Given the description of an element on the screen output the (x, y) to click on. 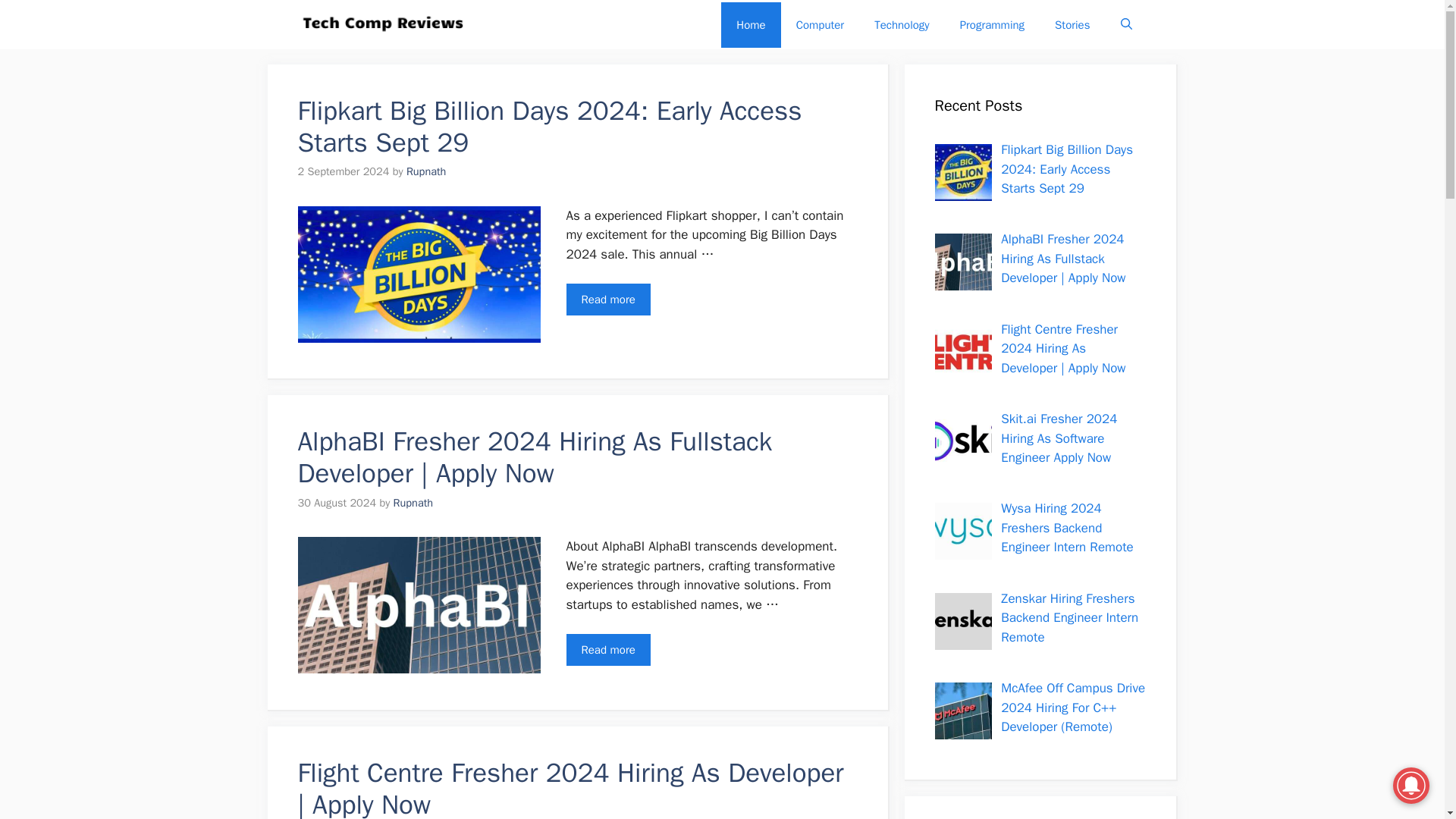
Read more (607, 299)
Home (750, 23)
Computer (820, 23)
Tech Comp Reviews (559, 24)
Rupnath (425, 171)
Tech Comp Reviews (382, 24)
View all posts by Rupnath (425, 171)
Stories (1072, 23)
Flipkart Big Billion Days 2024: Early Access Starts Sept 29 (607, 299)
Flipkart Big Billion Days 2024: Early Access Starts Sept 29 (549, 126)
